Given the description of an element on the screen output the (x, y) to click on. 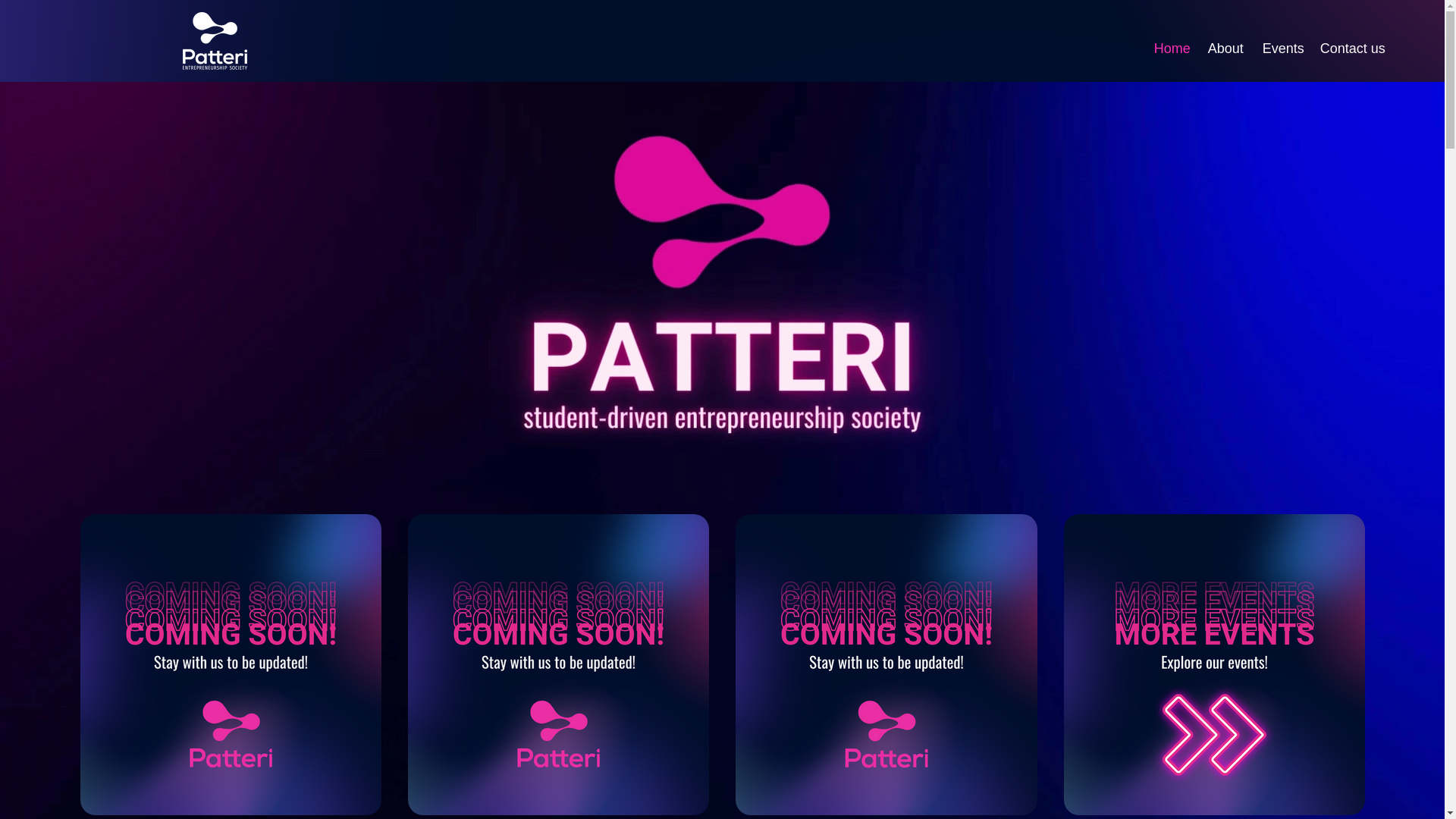
Events (1278, 48)
Home (1168, 48)
About (1222, 48)
Contact us (1348, 48)
